Given the description of an element on the screen output the (x, y) to click on. 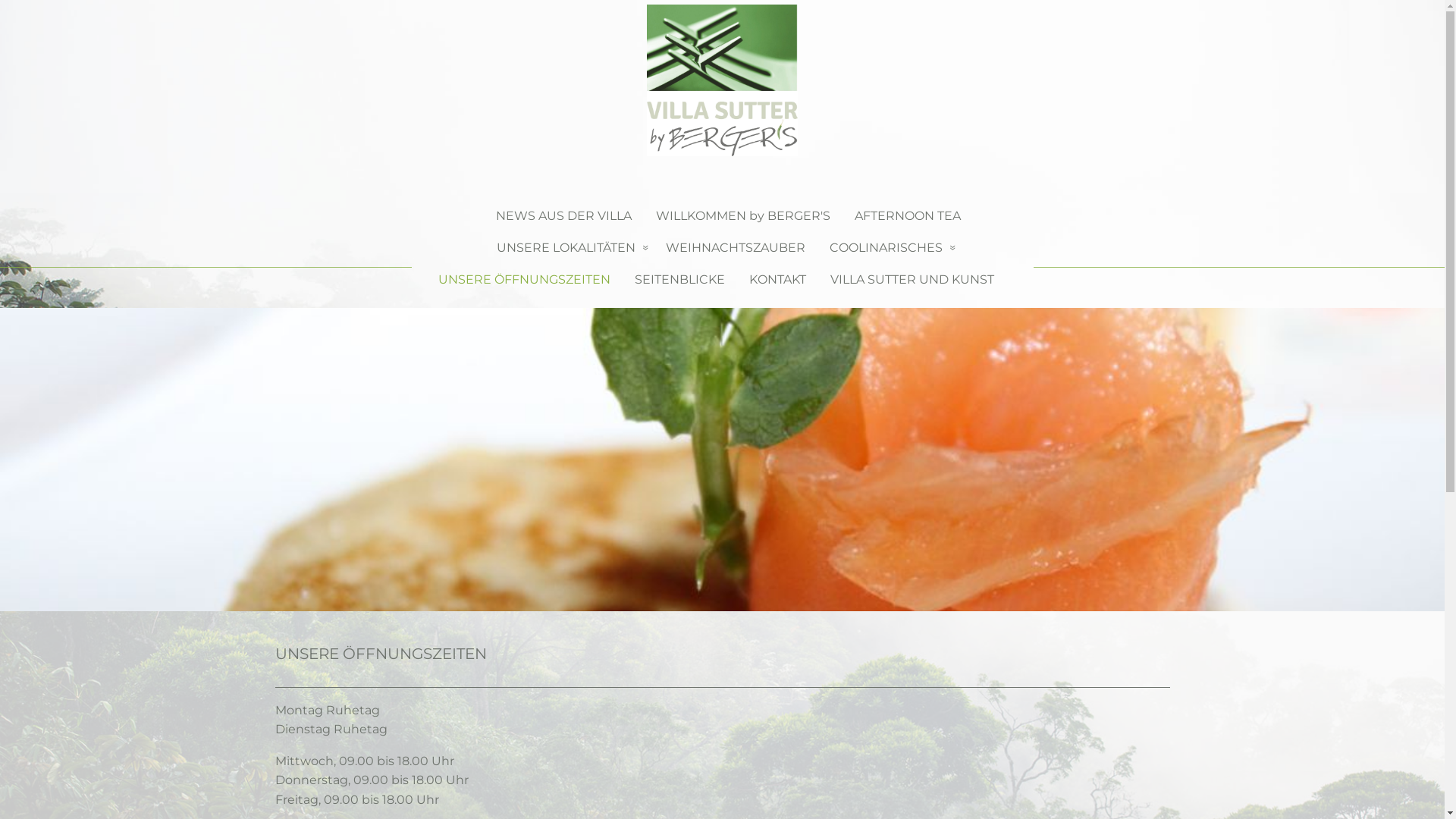
KONTAKT Element type: text (777, 279)
AFTERNOON TEA Element type: text (907, 216)
WEIHNACHTSZAUBER Element type: text (735, 247)
VILLA SUTTER UND KUNST Element type: text (918, 279)
WILLKOMMEN by BERGER'S Element type: text (742, 216)
COOLINARISCHES Element type: text (888, 247)
SEITENBLICKE Element type: text (679, 279)
NEWS AUS DER VILLA Element type: text (557, 216)
